Given the description of an element on the screen output the (x, y) to click on. 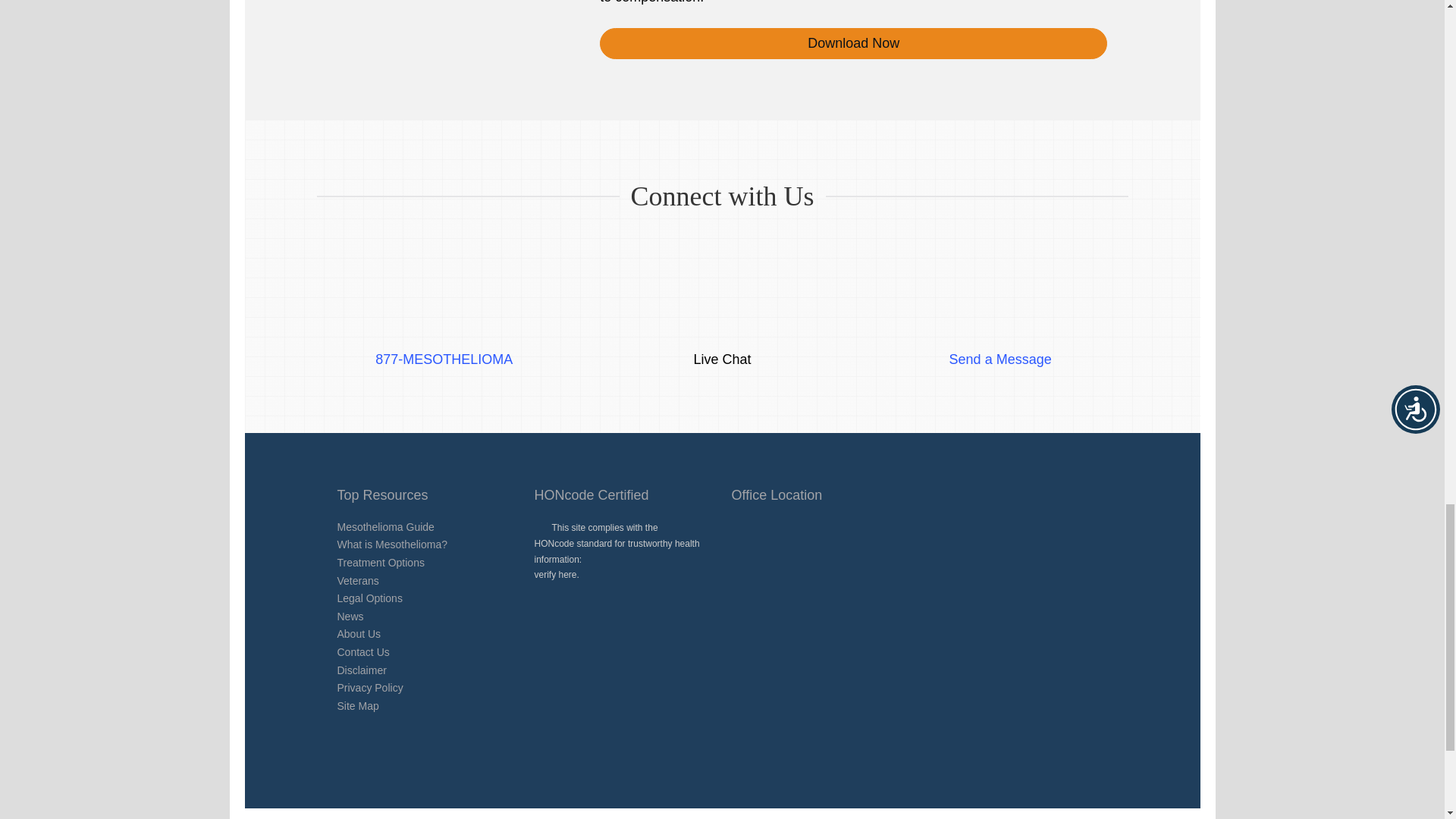
Treatment Options (379, 562)
Contact Us (362, 652)
About Us (358, 633)
What is Mesothelioma? (391, 544)
Send a Message (1000, 340)
Site Map (357, 705)
Privacy Policy (369, 687)
Download Now (852, 42)
Veterans (357, 580)
News (349, 616)
